Given the description of an element on the screen output the (x, y) to click on. 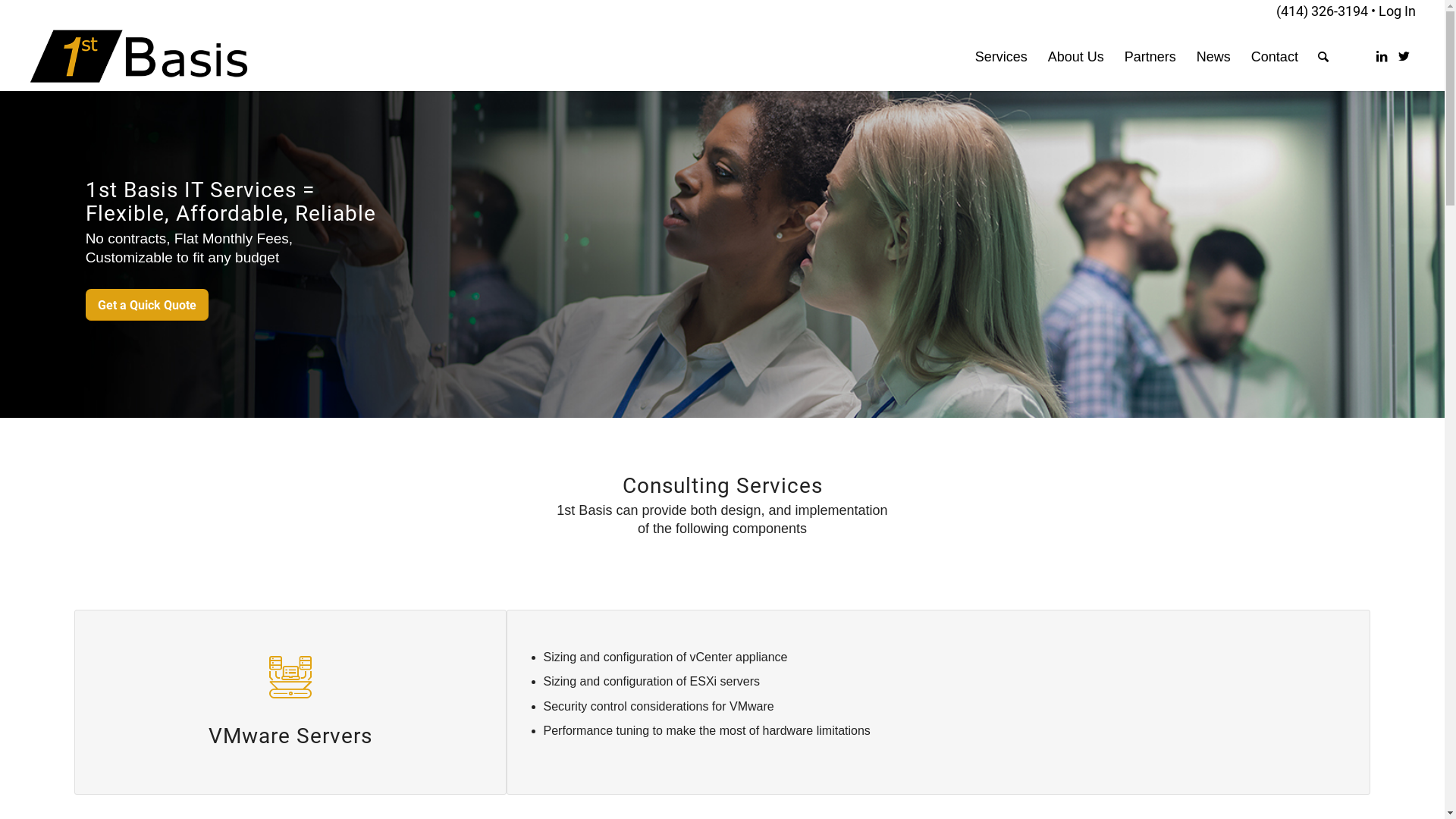
Log In Element type: text (1396, 10)
Services Element type: text (1001, 56)
About Us Element type: text (1075, 56)
Get a Quick Quote Element type: text (146, 304)
(414) 326-3194 Element type: text (1322, 10)
Partners Element type: text (1149, 56)
Contact Element type: text (1274, 56)
Twitter Element type: hover (1404, 55)
logo Element type: hover (138, 56)
News Element type: text (1213, 56)
LinkedIn Element type: hover (1381, 55)
